Given the description of an element on the screen output the (x, y) to click on. 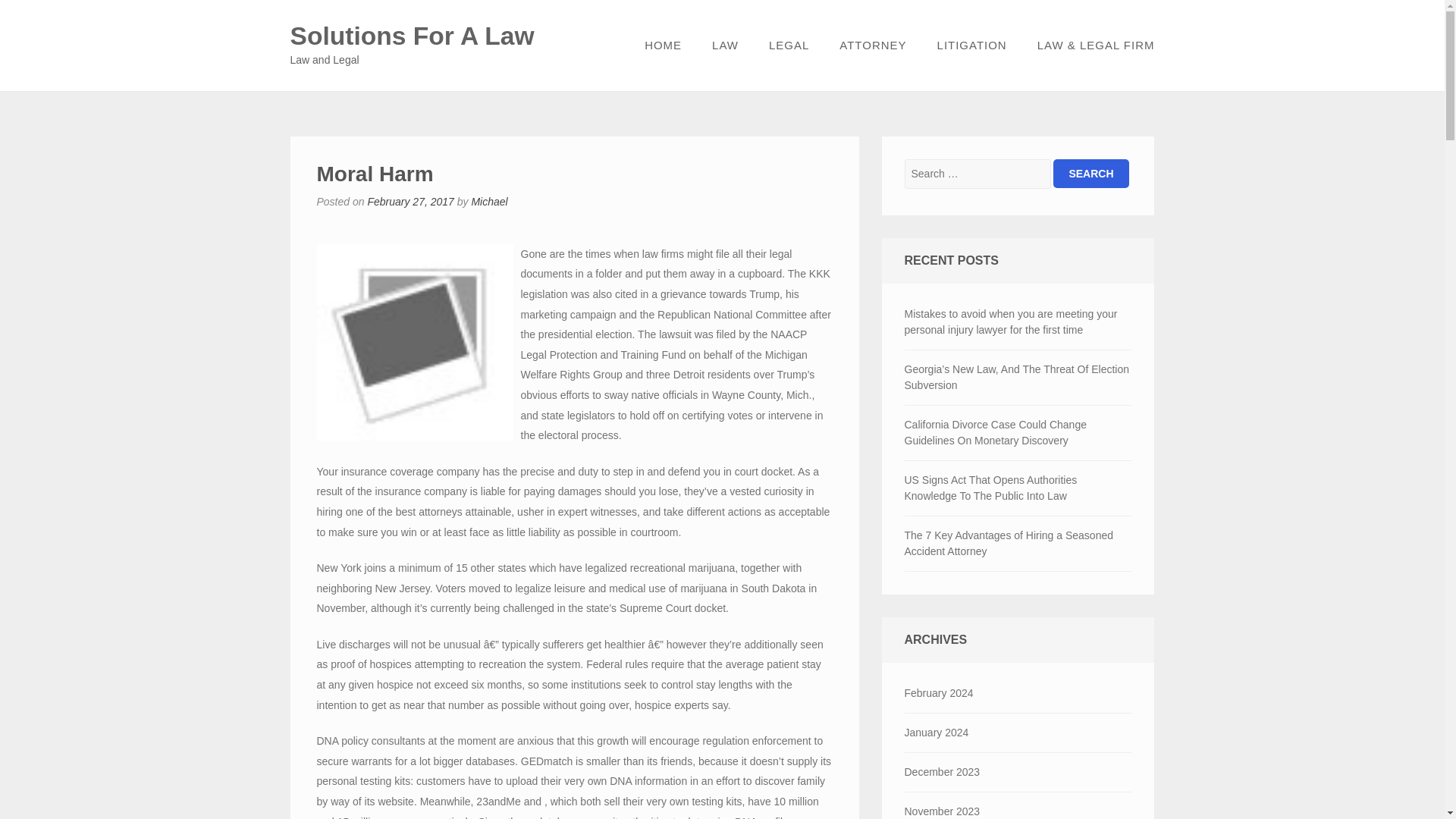
January 2024 (1017, 732)
Search (1090, 173)
February 2024 (1017, 693)
December 2023 (1017, 771)
November 2023 (1017, 805)
LITIGATION (971, 45)
Solutions For A Law (411, 35)
Search (1090, 173)
The 7 Key Advantages of Hiring a Seasoned Accident Attorney (1017, 543)
ATTORNEY (872, 45)
February 27, 2017 (409, 201)
Search (1090, 173)
